Given the description of an element on the screen output the (x, y) to click on. 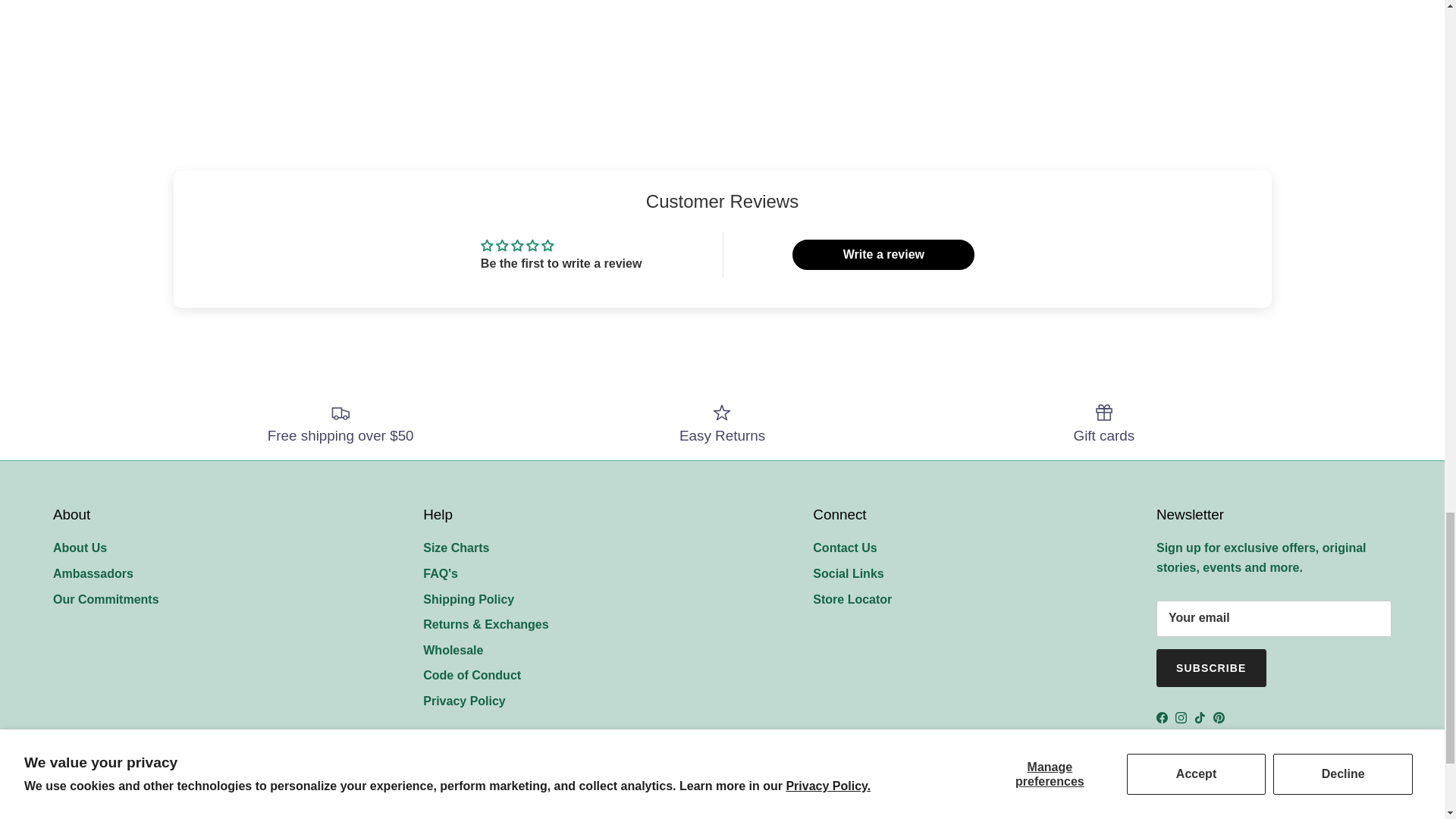
Slow Loris on Instagram (1180, 717)
Slow Loris on TikTok (1199, 717)
Slow Loris on Facebook (1161, 717)
Slow Loris on Pinterest (1218, 717)
